Given the description of an element on the screen output the (x, y) to click on. 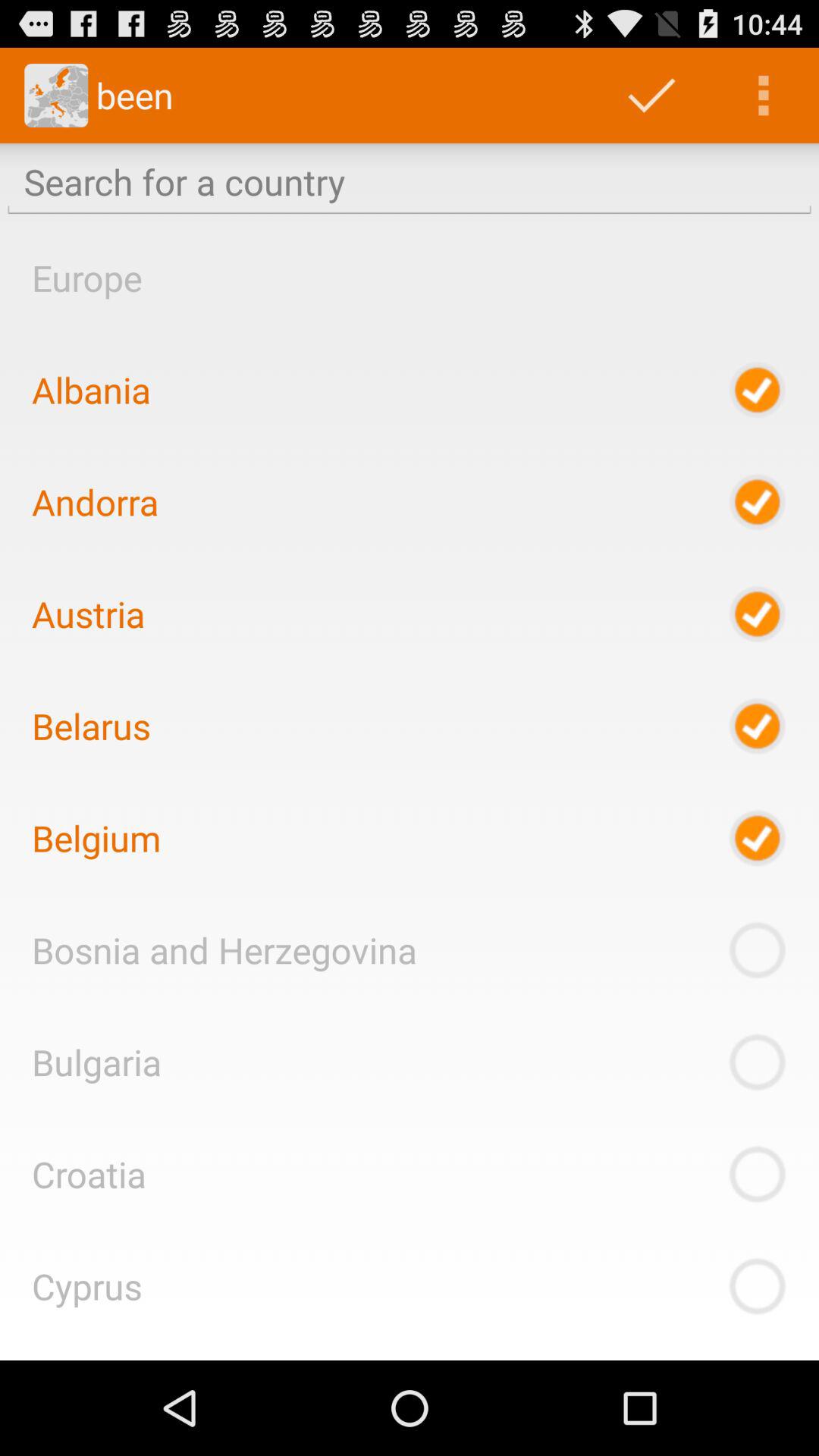
select the app below andorra (88, 613)
